Given the description of an element on the screen output the (x, y) to click on. 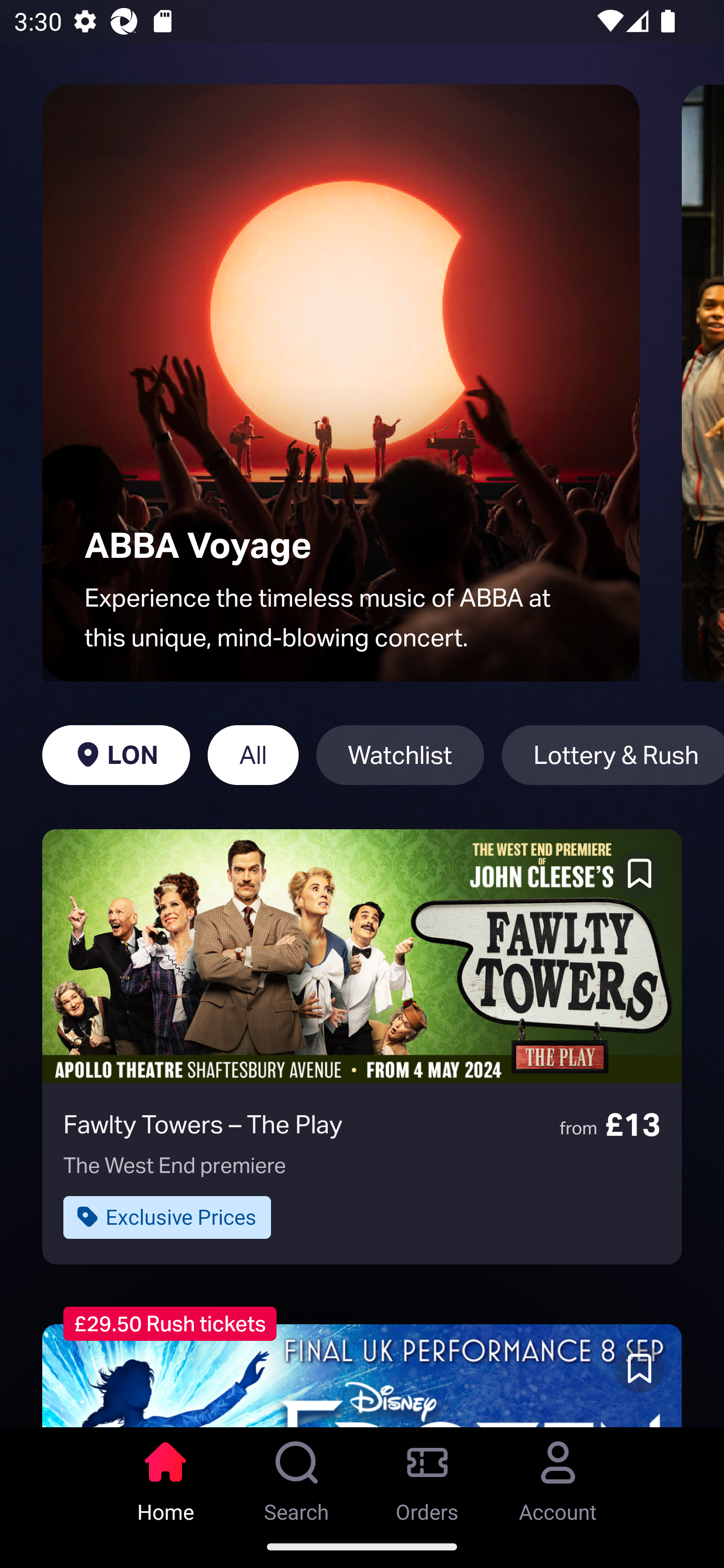
LON (115, 754)
All (252, 754)
Watchlist (400, 754)
Lottery & Rush (612, 754)
Search (296, 1475)
Orders (427, 1475)
Account (558, 1475)
